Given the description of an element on the screen output the (x, y) to click on. 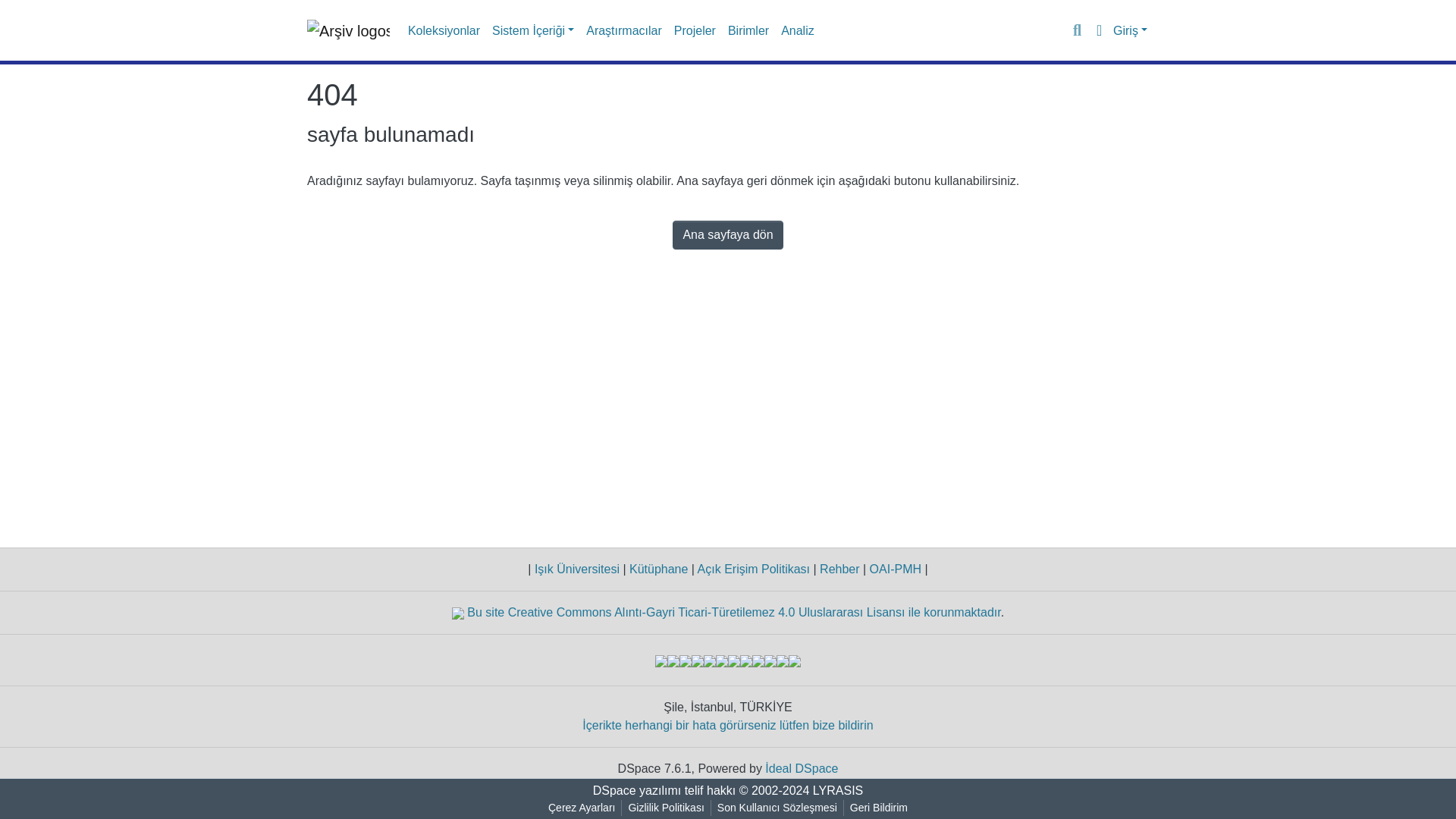
Ara (1076, 30)
Koleksiyonlar (443, 30)
Koleksiyonlar (443, 30)
Analiz (797, 30)
Projeler (695, 30)
Birimler (748, 30)
Rehber (839, 568)
OAI-PMH (895, 568)
